Given the description of an element on the screen output the (x, y) to click on. 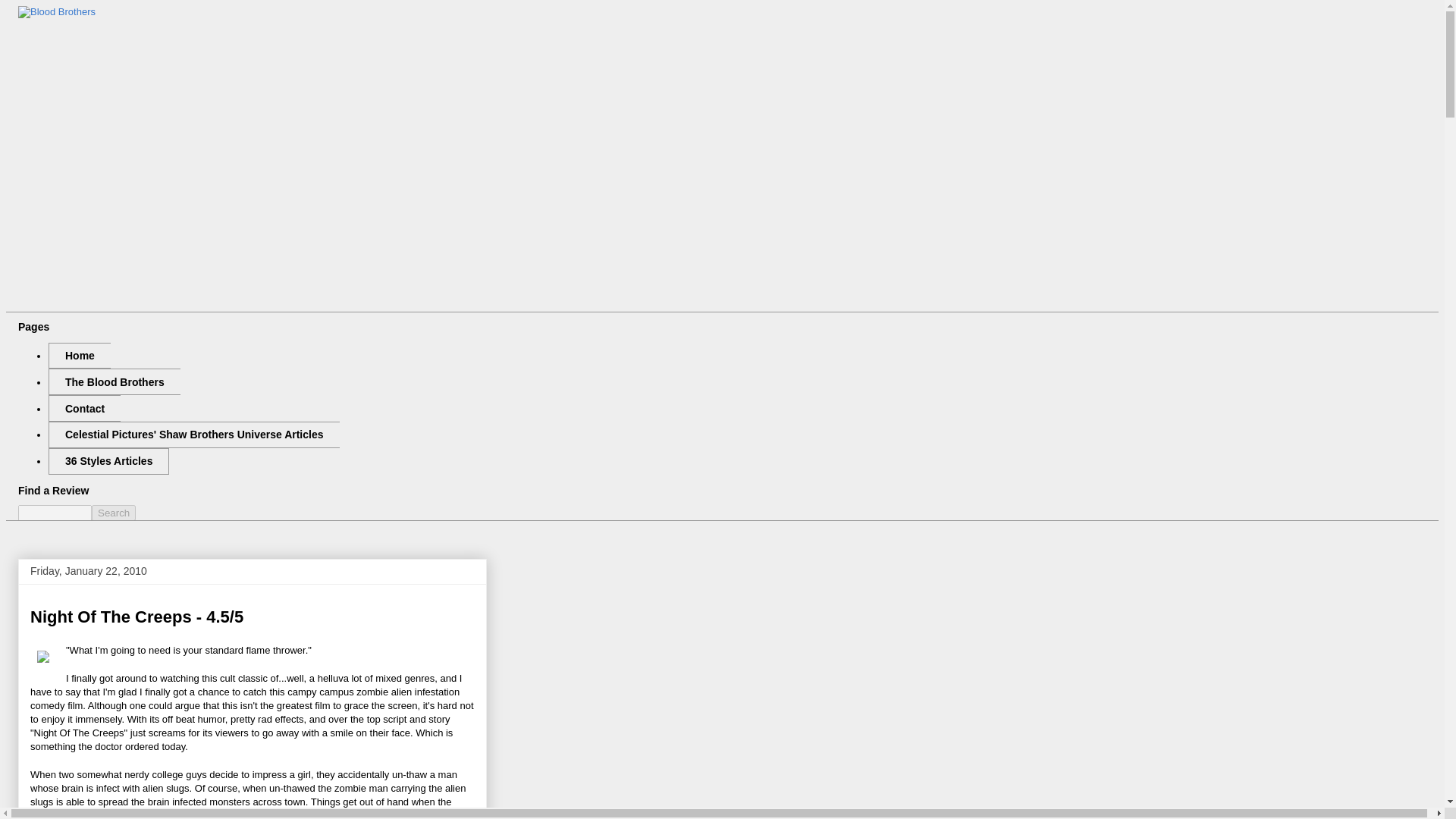
Search (113, 512)
search (54, 512)
search (113, 512)
Home (79, 356)
Celestial Pictures' Shaw Brothers Universe Articles (193, 434)
Search (113, 512)
Contact (84, 407)
36 Styles Articles (108, 461)
The Blood Brothers (114, 381)
Search (113, 512)
